Given the description of an element on the screen output the (x, y) to click on. 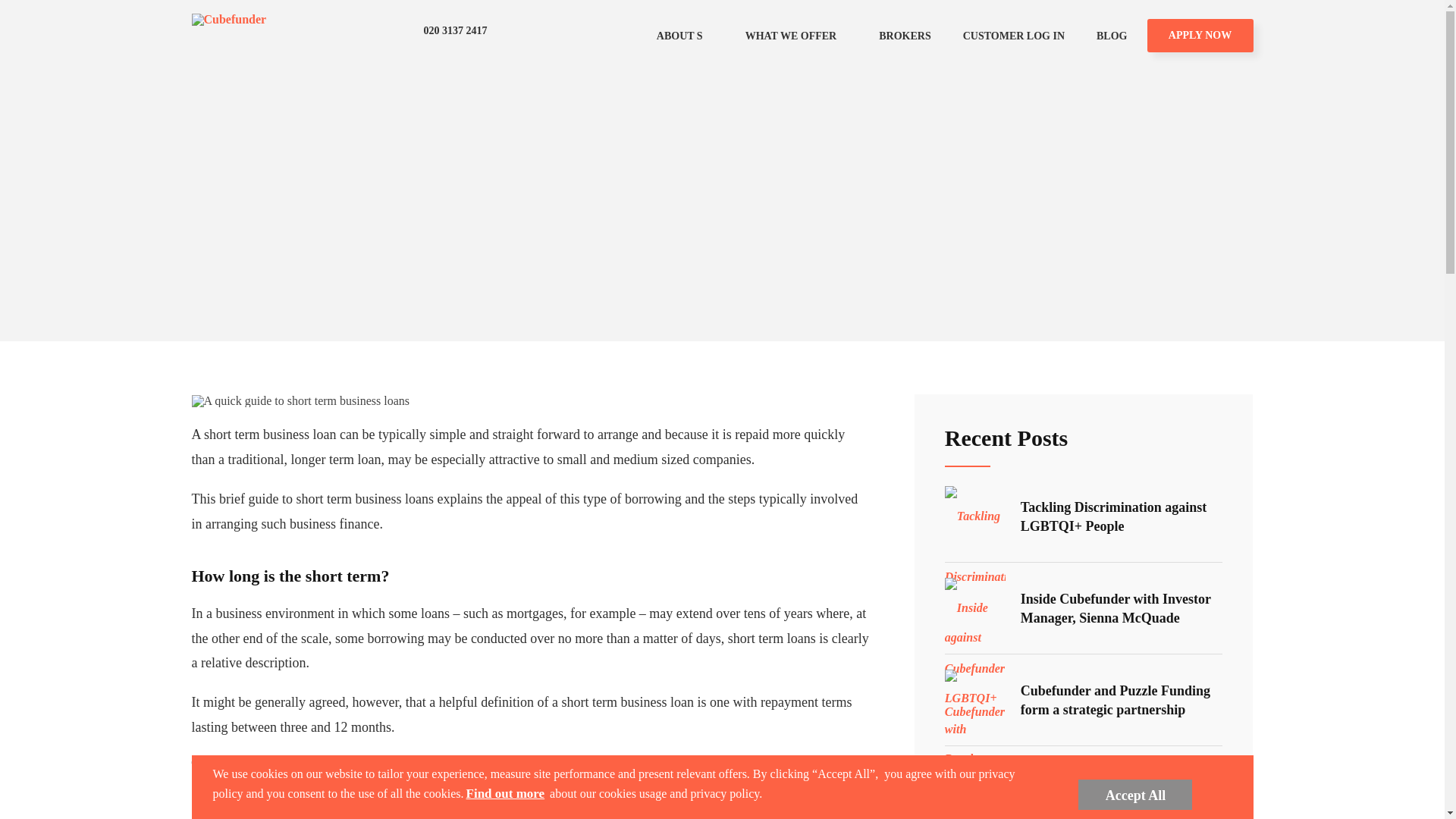
BROKERS (904, 36)
ABOUT S (685, 36)
CUSTOMER LOG IN (1013, 36)
WHAT WE OFFER (796, 36)
BLOG (1111, 36)
Inside Cubefunder with Investor Manager, Sienna McQuade (1083, 608)
Cubefunder and Puzzle Funding form a strategic partnership (1083, 699)
APPLY NOW (1199, 35)
020 3137 2417 (442, 31)
